Given the description of an element on the screen output the (x, y) to click on. 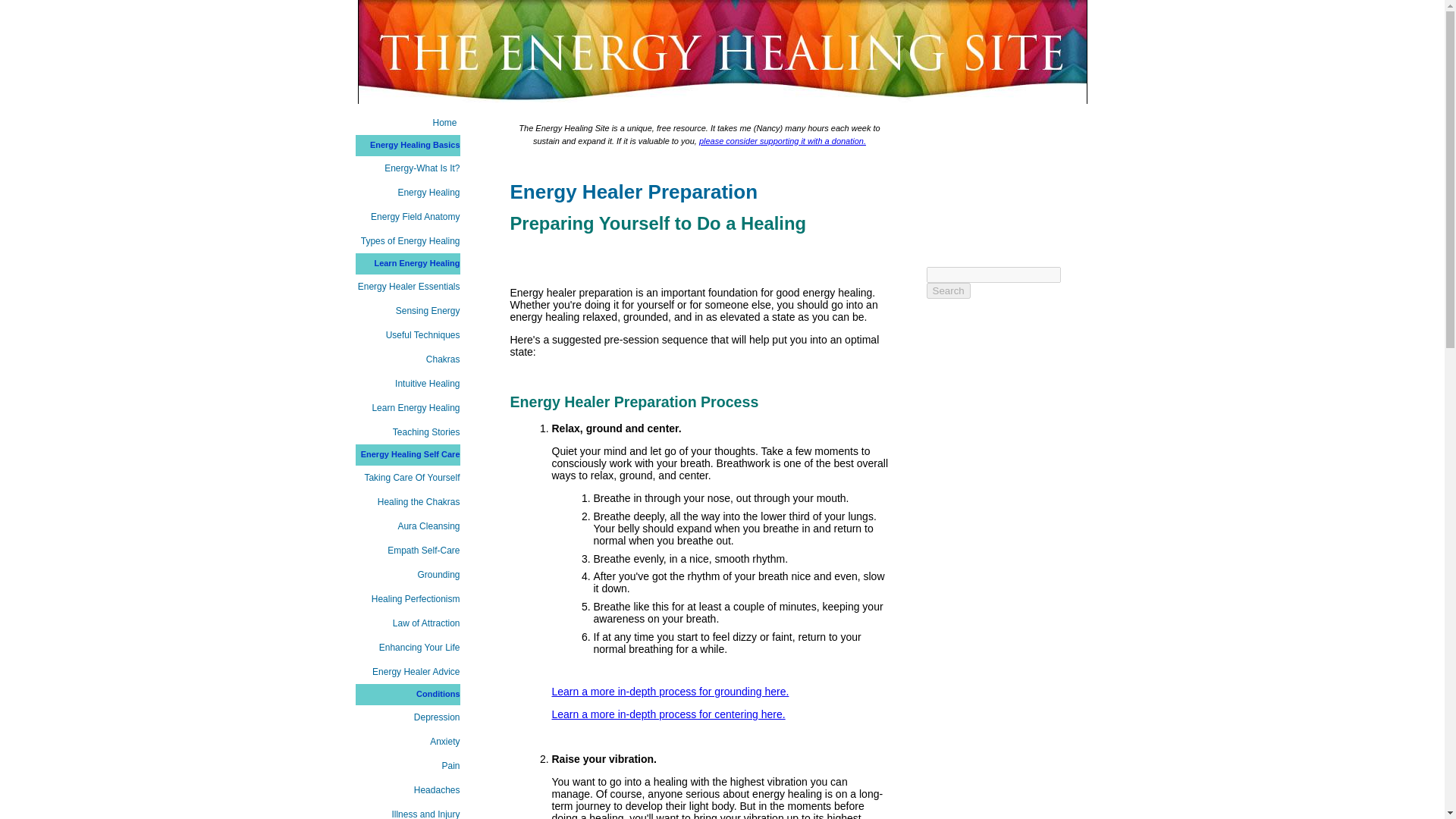
Aura Cleansing (407, 526)
Energy-What Is It? (407, 168)
Intuitive Healing (407, 383)
Taking Care Of Yourself (407, 477)
Sensing Energy (407, 310)
Search (948, 290)
Useful Techniques (407, 334)
please consider supporting it with a donation. (782, 140)
Home (407, 122)
Types of Energy Healing (407, 241)
Teaching Stories (407, 432)
Healing Perfectionism (407, 598)
Chakras (407, 359)
Grounding (407, 574)
Pain (407, 765)
